Given the description of an element on the screen output the (x, y) to click on. 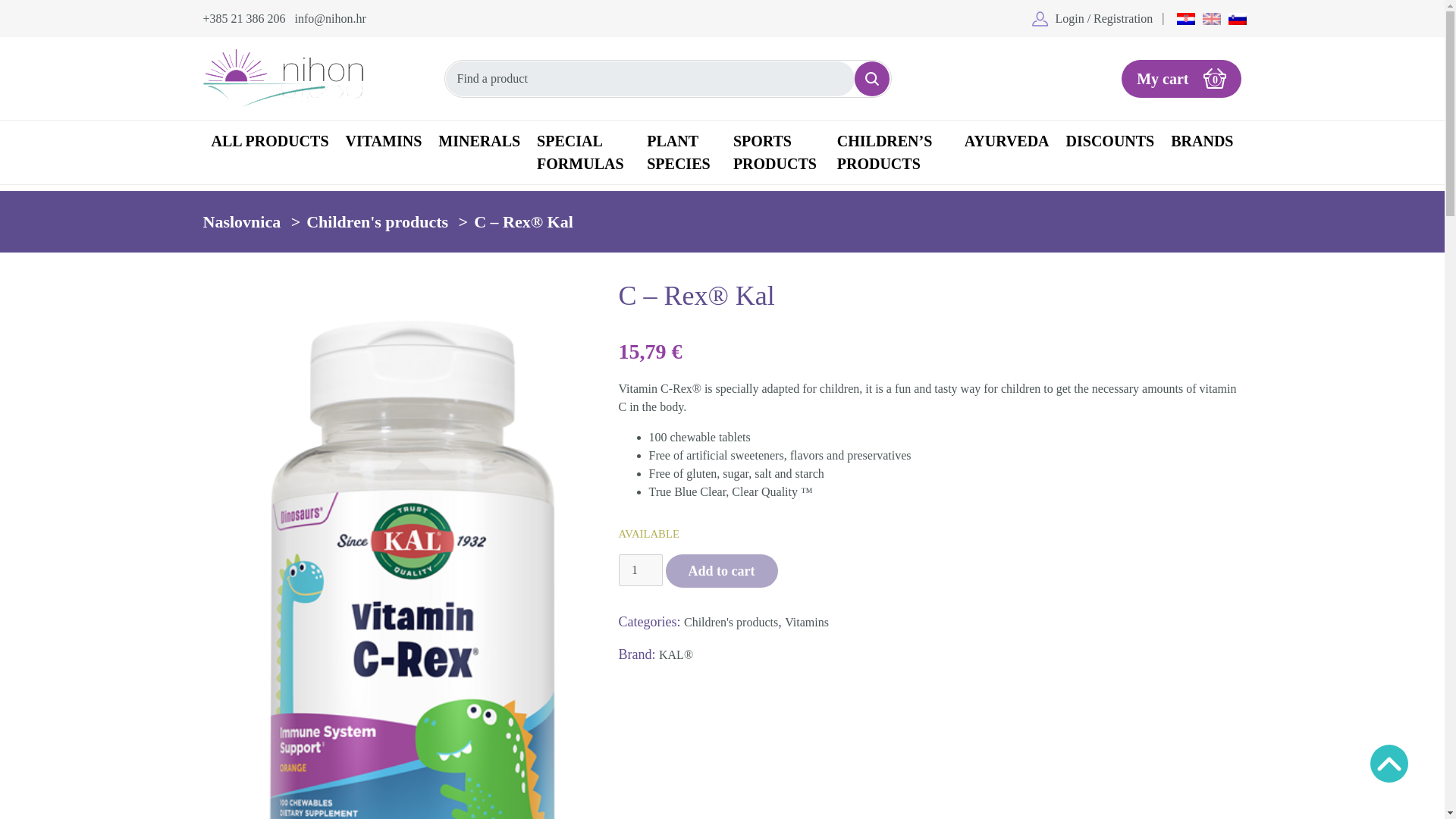
Search (871, 78)
1 (640, 570)
BRANDS (1201, 141)
Nihon Webshop (282, 78)
VITAMINS (384, 141)
Hrvatski (1185, 18)
Naslovnica (242, 221)
DISCOUNTS (1110, 141)
PLANT SPECIES (681, 152)
SPECIAL FORMULAS (582, 152)
ALL PRODUCTS (1181, 78)
Children's products (270, 141)
English (376, 221)
SPORTS PRODUCTS (1211, 18)
